Given the description of an element on the screen output the (x, y) to click on. 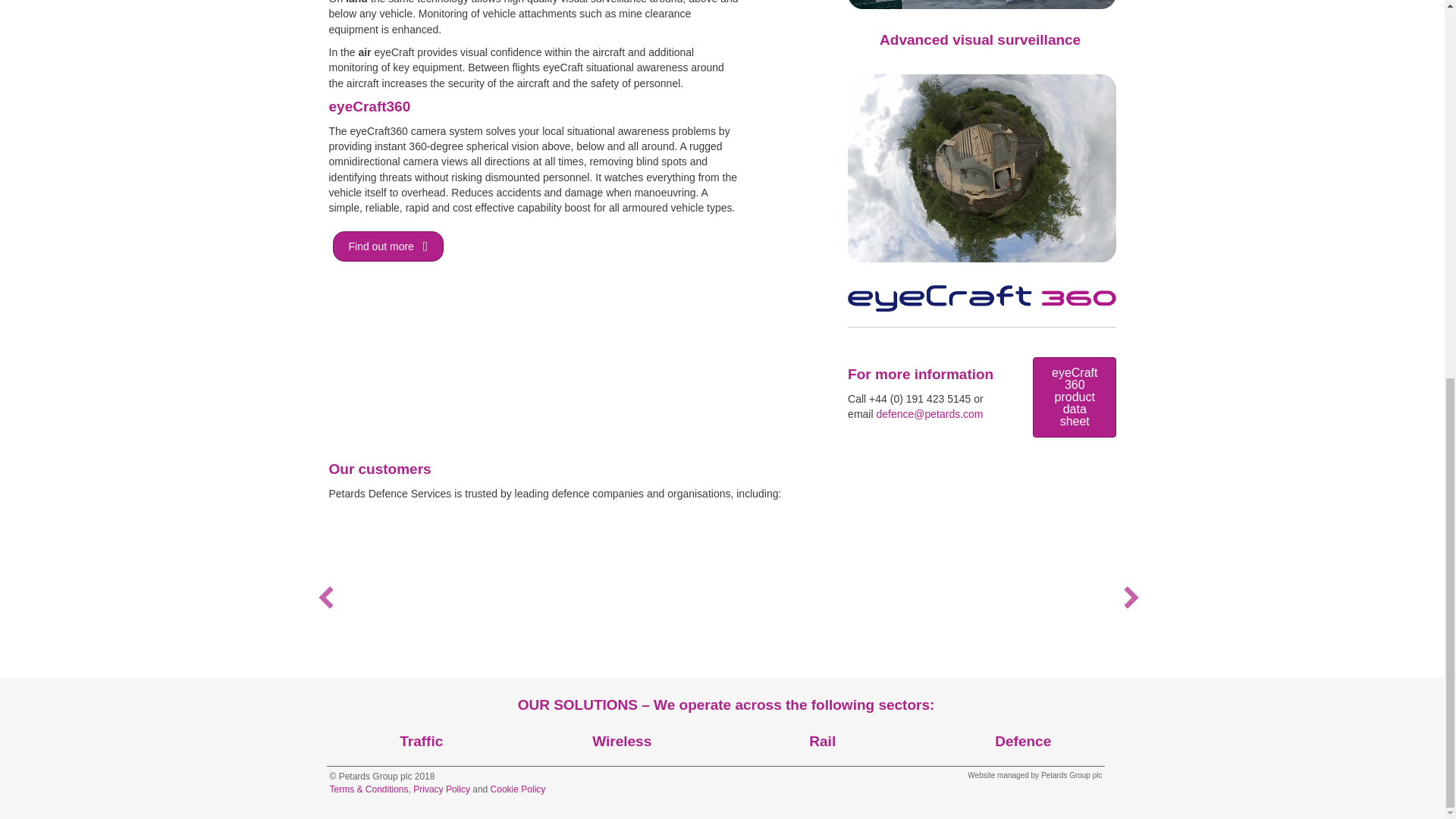
Surveillance camera on a ferry (981, 4)
eyeCraft360logoclean (981, 298)
